Given the description of an element on the screen output the (x, y) to click on. 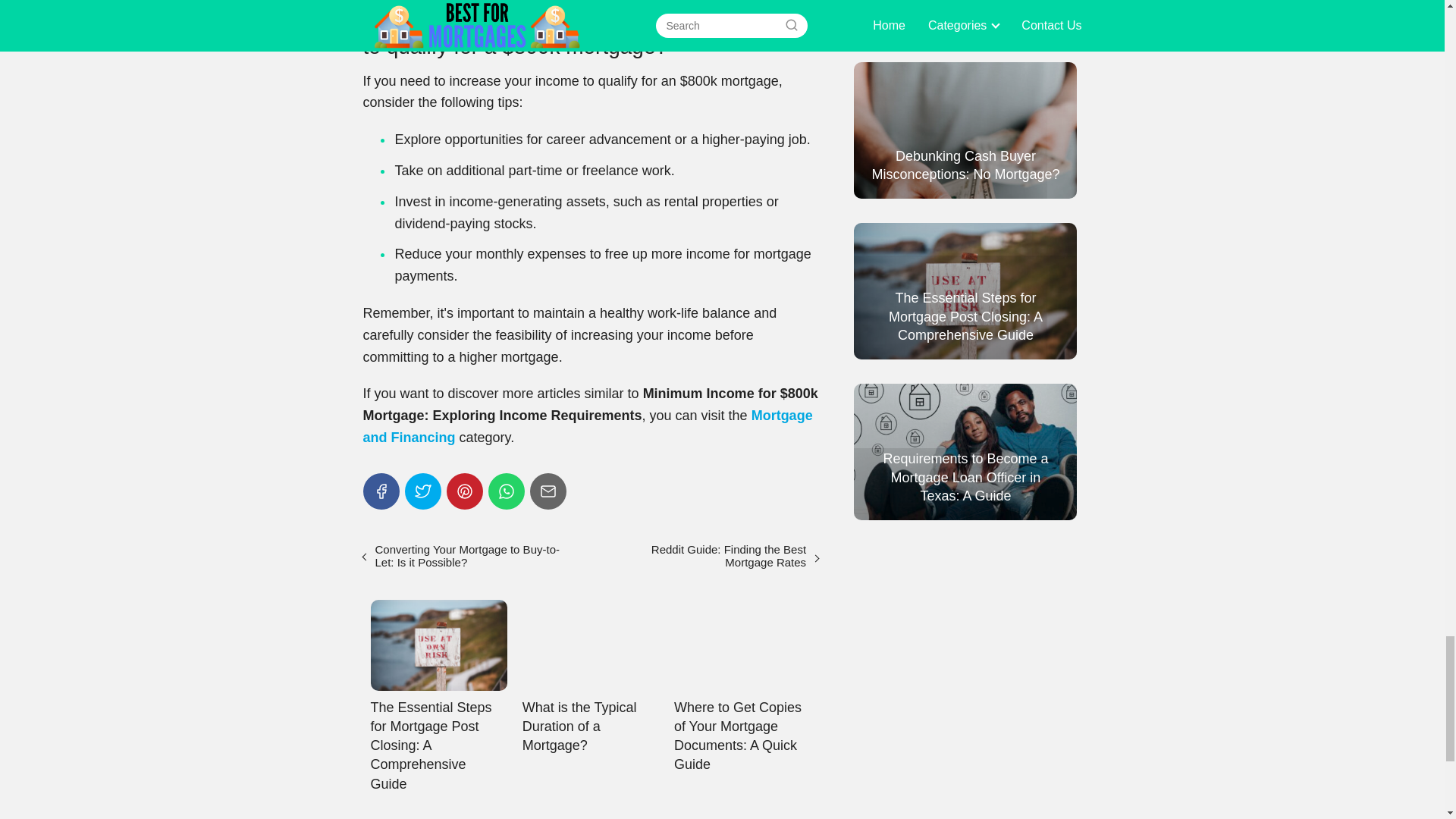
Mortgage and Financing (587, 426)
